Given the description of an element on the screen output the (x, y) to click on. 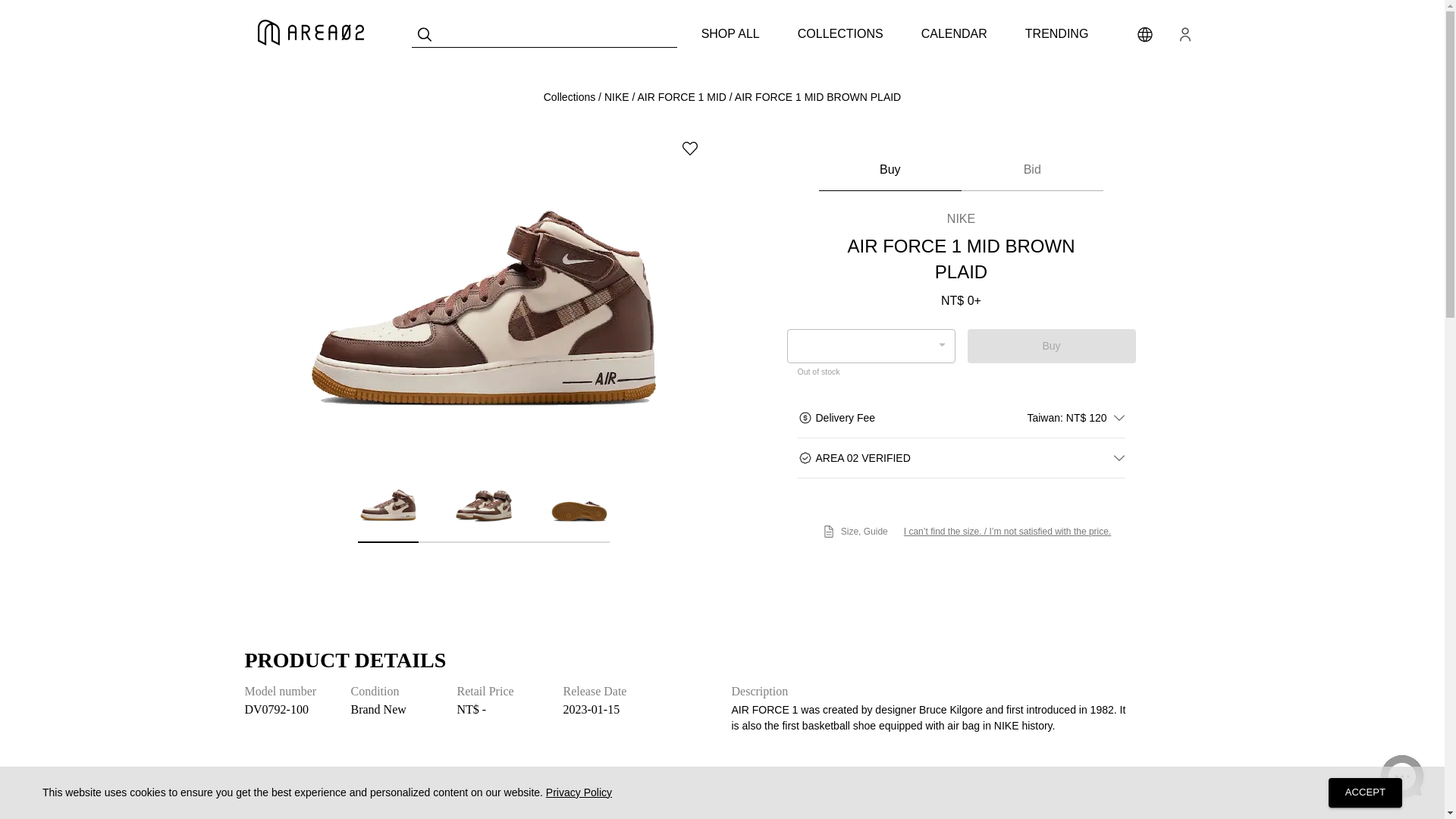
Bid (1031, 169)
Size, Guide (853, 531)
CALENDAR (954, 33)
TRENDING (1056, 33)
NIKE (616, 96)
AIR FORCE 1 MID (681, 96)
COLLECTIONS (840, 33)
Buy (1051, 346)
SHOP ALL (730, 33)
Buy (889, 169)
